Given the description of an element on the screen output the (x, y) to click on. 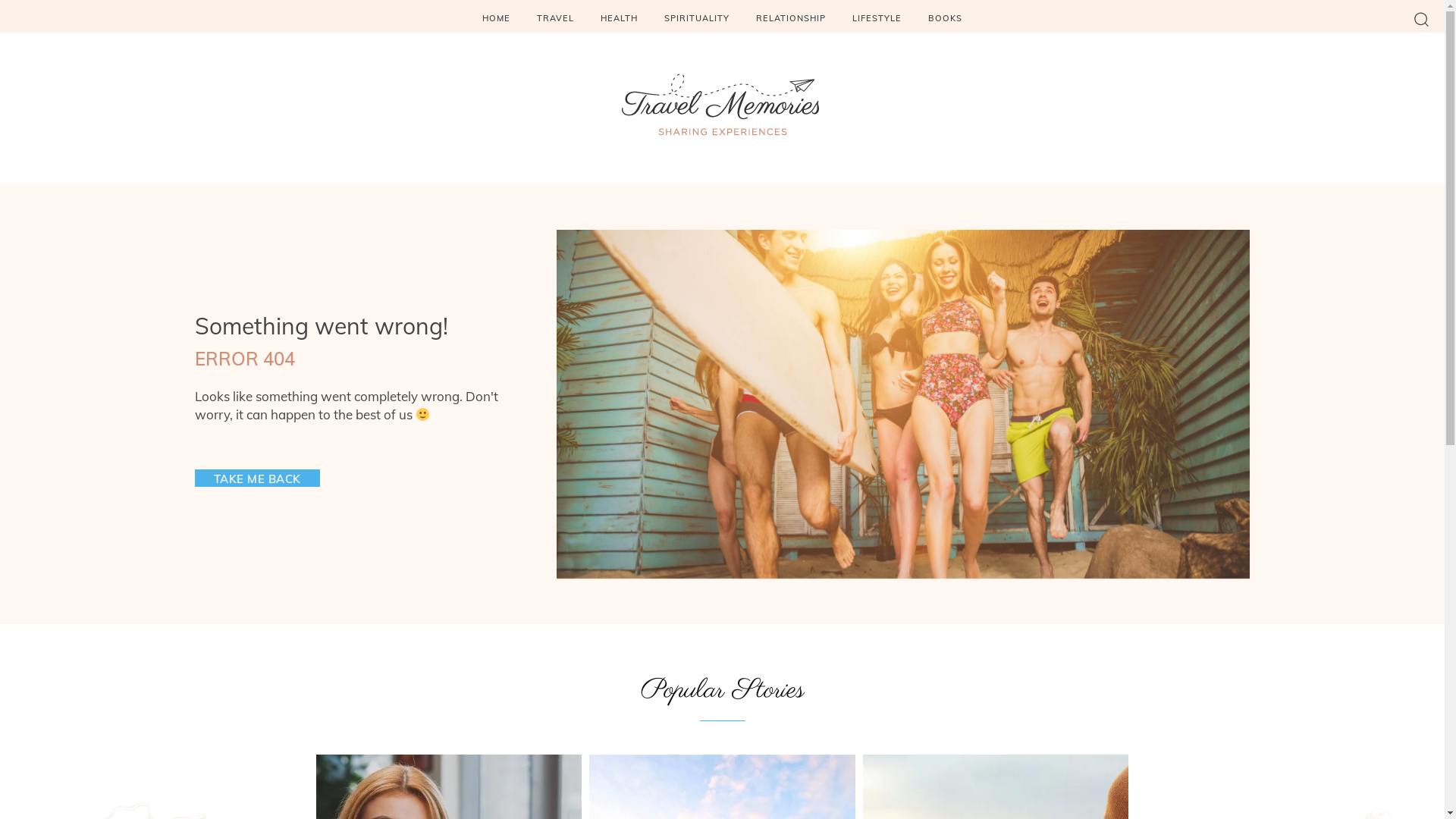
TAKE ME BACK Element type: text (256, 477)
HEALTH Element type: text (619, 18)
RELATIONSHIP Element type: text (790, 18)
LIFESTYLE Element type: text (876, 18)
TRAVEL Element type: text (555, 18)
SPIRITUALITY Element type: text (696, 18)
HOME Element type: text (495, 18)
BOOKS Element type: text (944, 18)
